Given the description of an element on the screen output the (x, y) to click on. 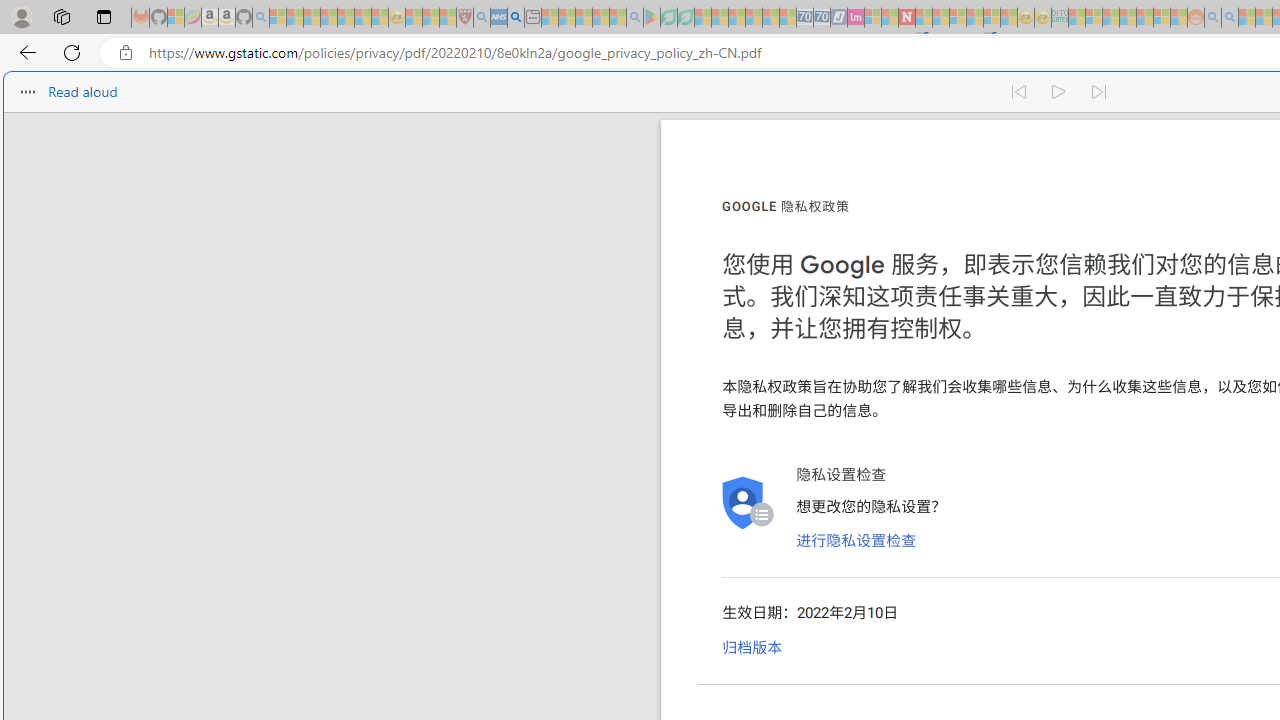
Read next paragraph (1099, 92)
Read previous paragraph (1018, 92)
utah sues federal government - Search (515, 17)
